Given the description of an element on the screen output the (x, y) to click on. 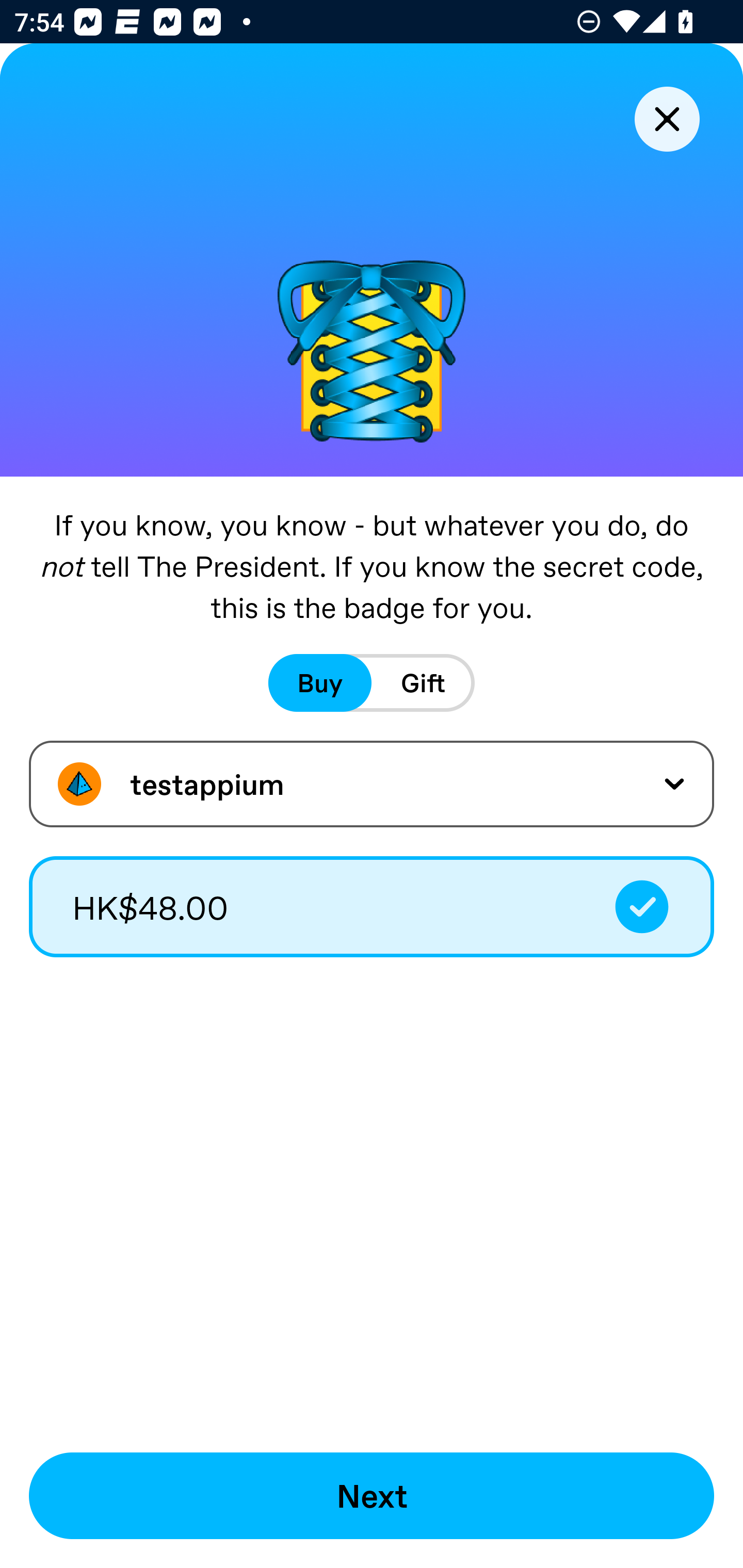
Buy (319, 682)
Gift (423, 682)
testappium (371, 783)
Next (371, 1495)
